Given the description of an element on the screen output the (x, y) to click on. 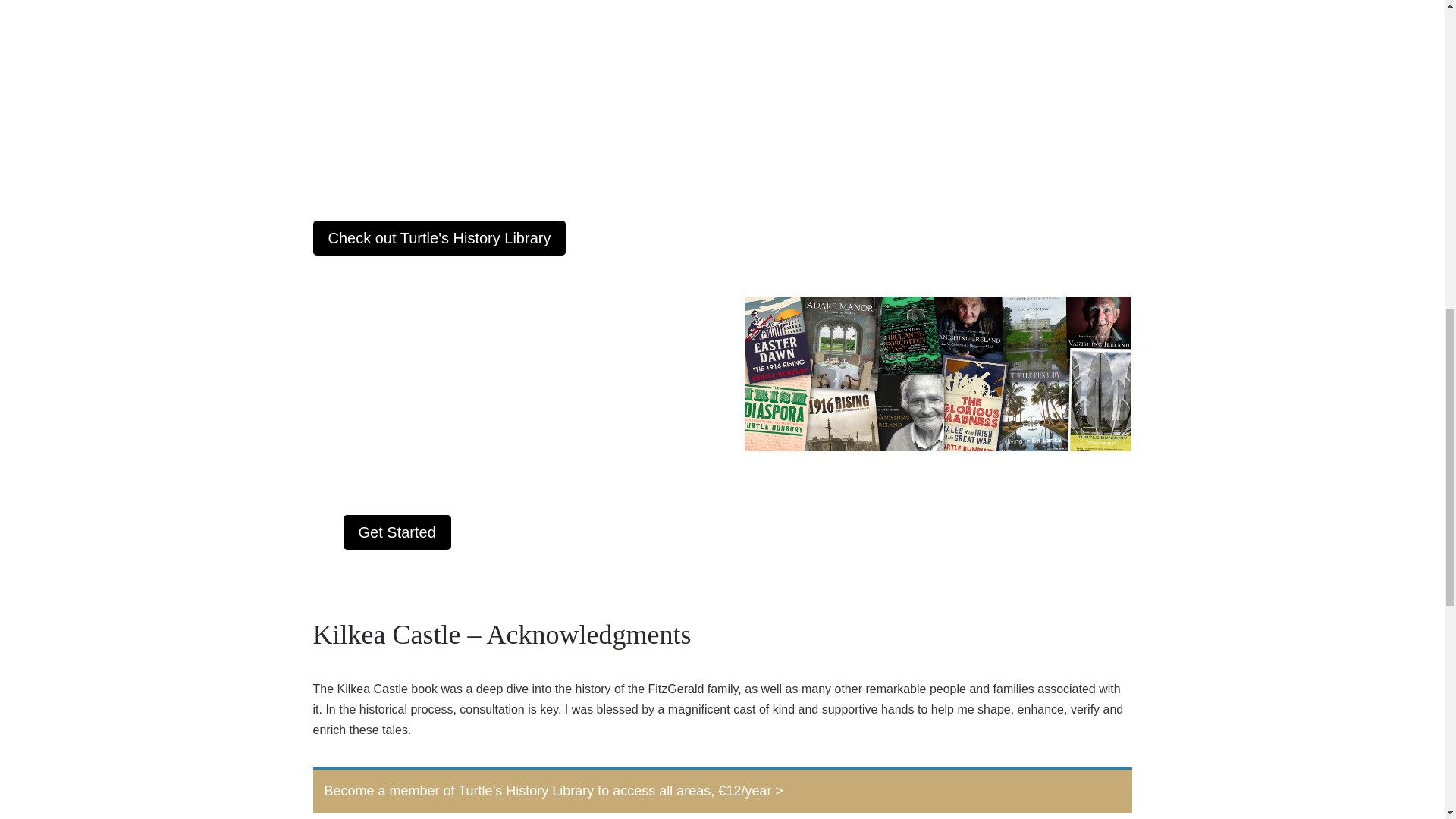
Check out Turtle's History Library (439, 237)
JOIN UP (1034, 20)
Books (937, 373)
CONTACT (1103, 20)
